Given the description of an element on the screen output the (x, y) to click on. 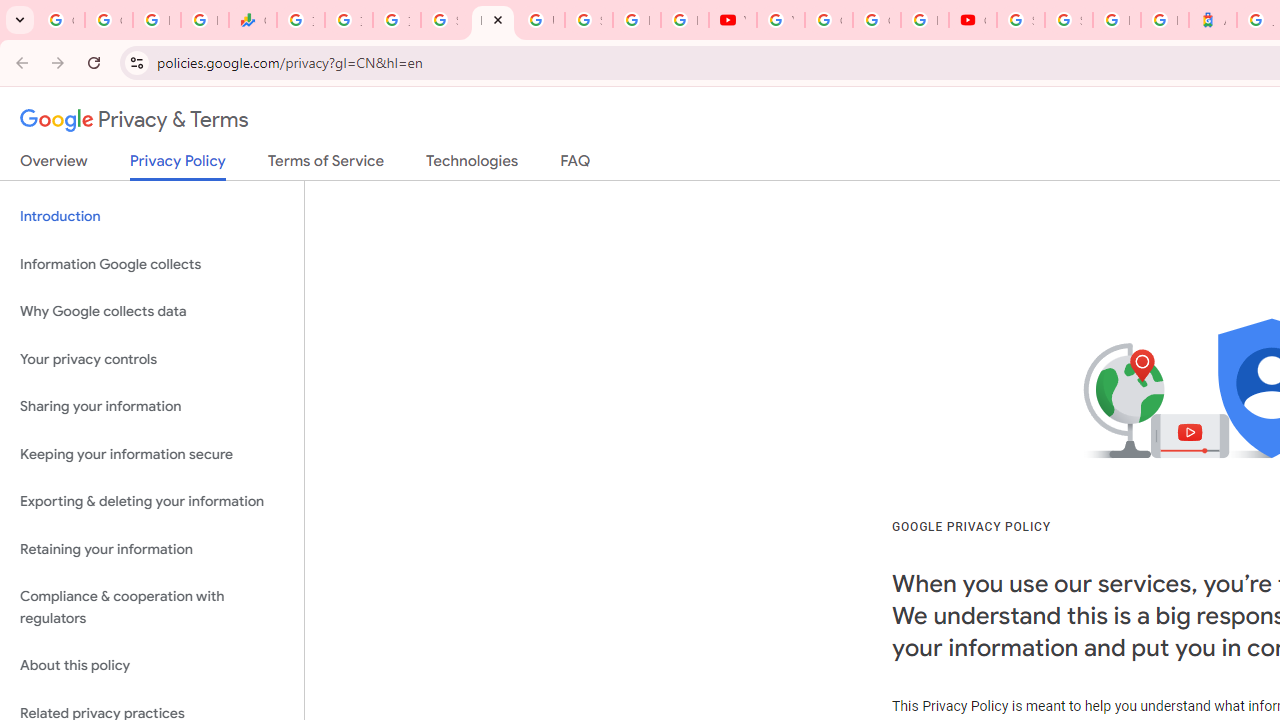
Atour Hotel - Google hotels (1212, 20)
Sign in - Google Accounts (1068, 20)
